Given the description of an element on the screen output the (x, y) to click on. 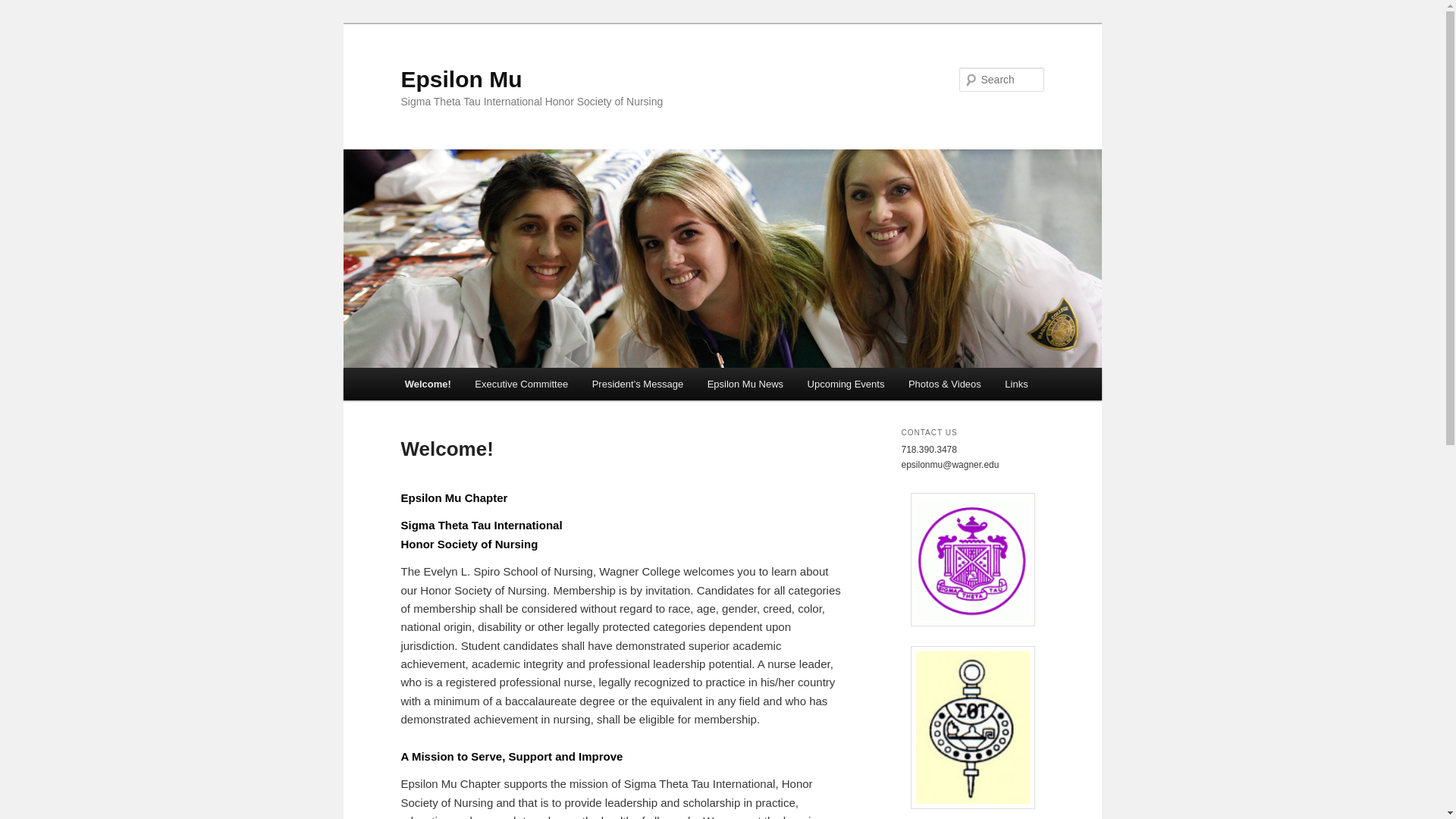
Upcoming Events (845, 383)
Epsilon Mu (460, 78)
Links (1016, 383)
Welcome! (428, 383)
Search (24, 8)
Executive Committee (521, 383)
Epsilon Mu News (744, 383)
